Given the description of an element on the screen output the (x, y) to click on. 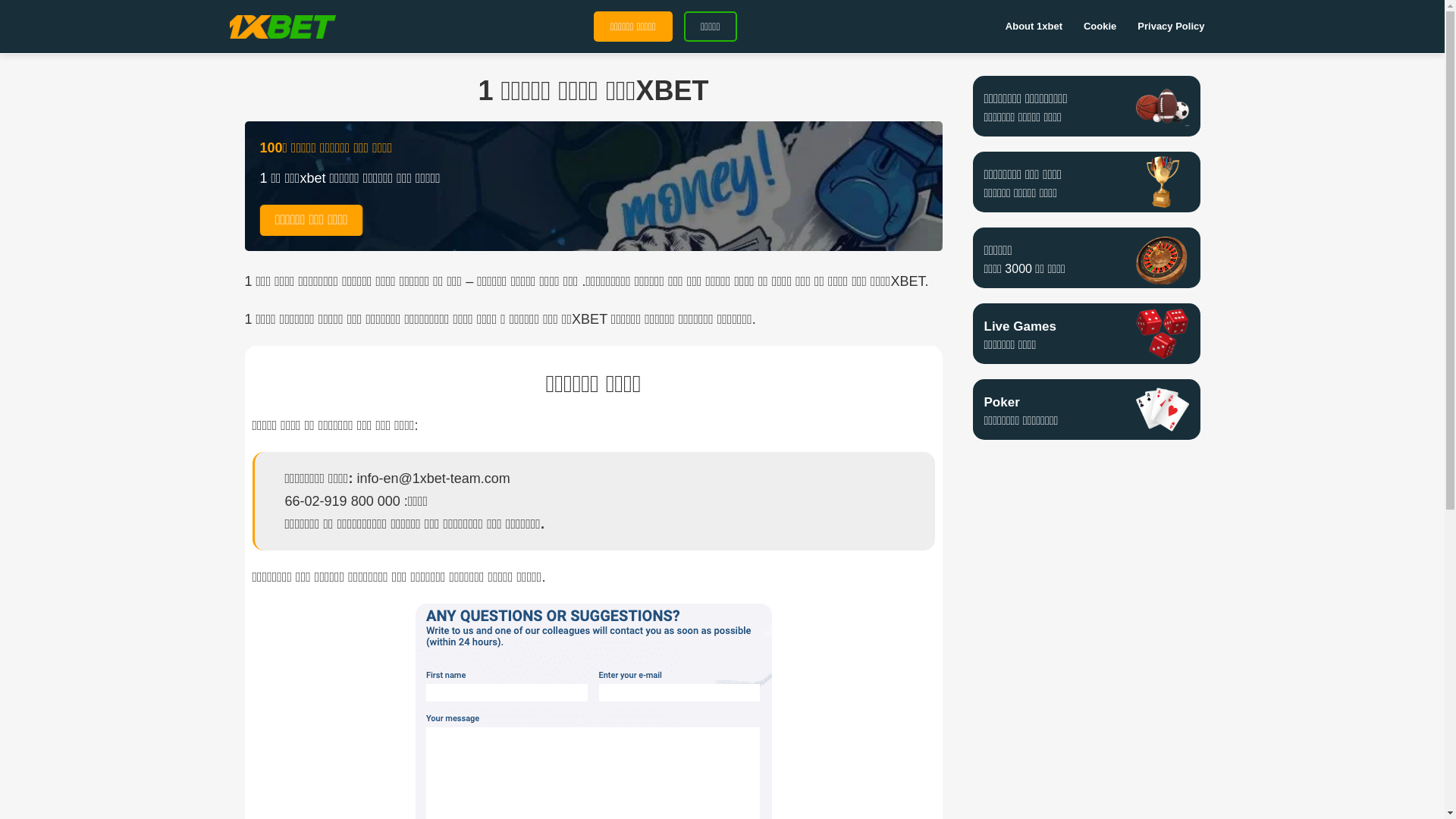
Cookie Element type: text (1099, 26)
About 1xbet Element type: text (1033, 26)
Privacy Policy Element type: text (1170, 26)
